Given the description of an element on the screen output the (x, y) to click on. 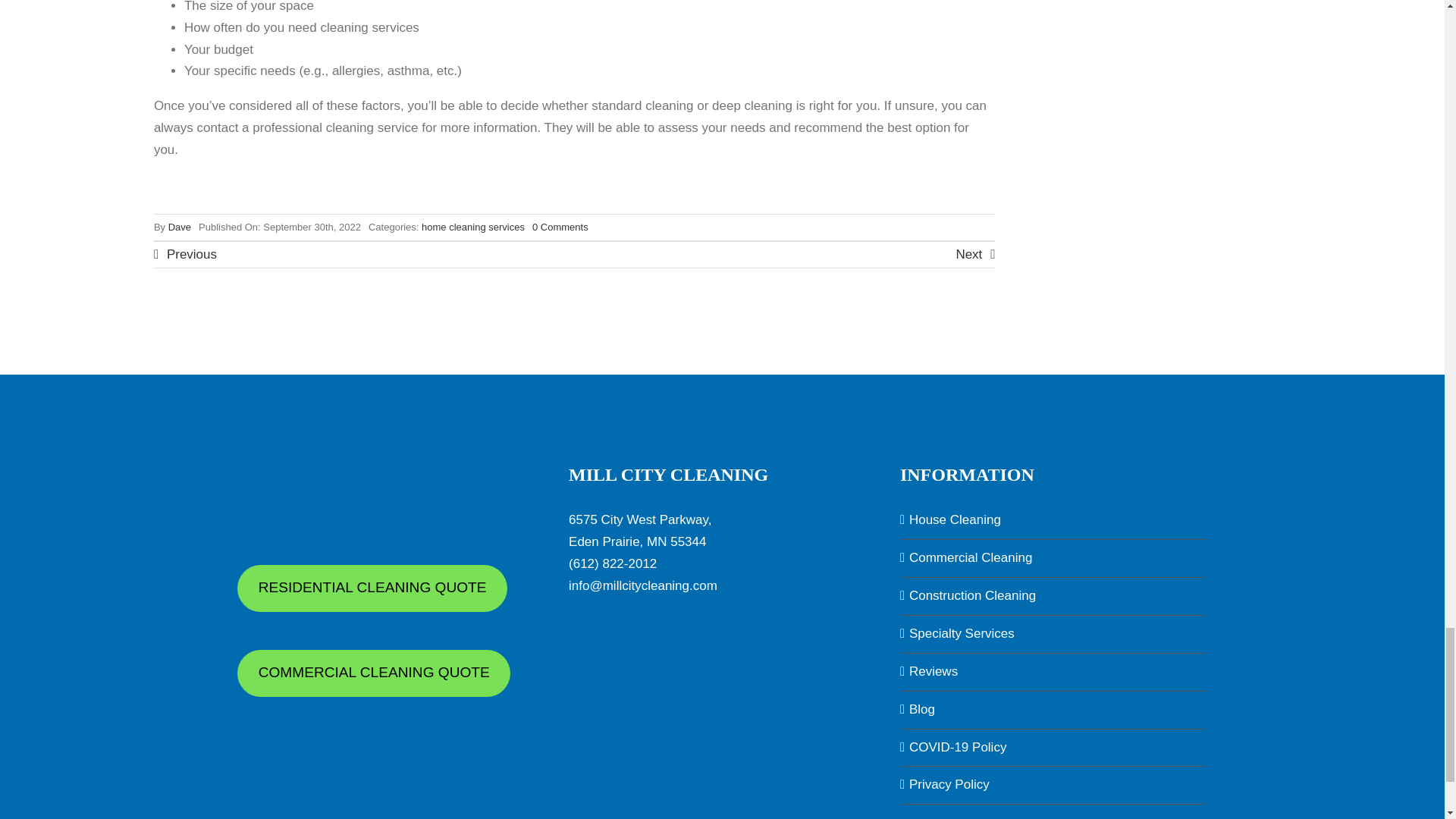
Previous (185, 254)
0 Comments (560, 226)
Next (974, 254)
Posts by Dave (179, 226)
home cleaning services (473, 226)
Dave (179, 226)
